Given the description of an element on the screen output the (x, y) to click on. 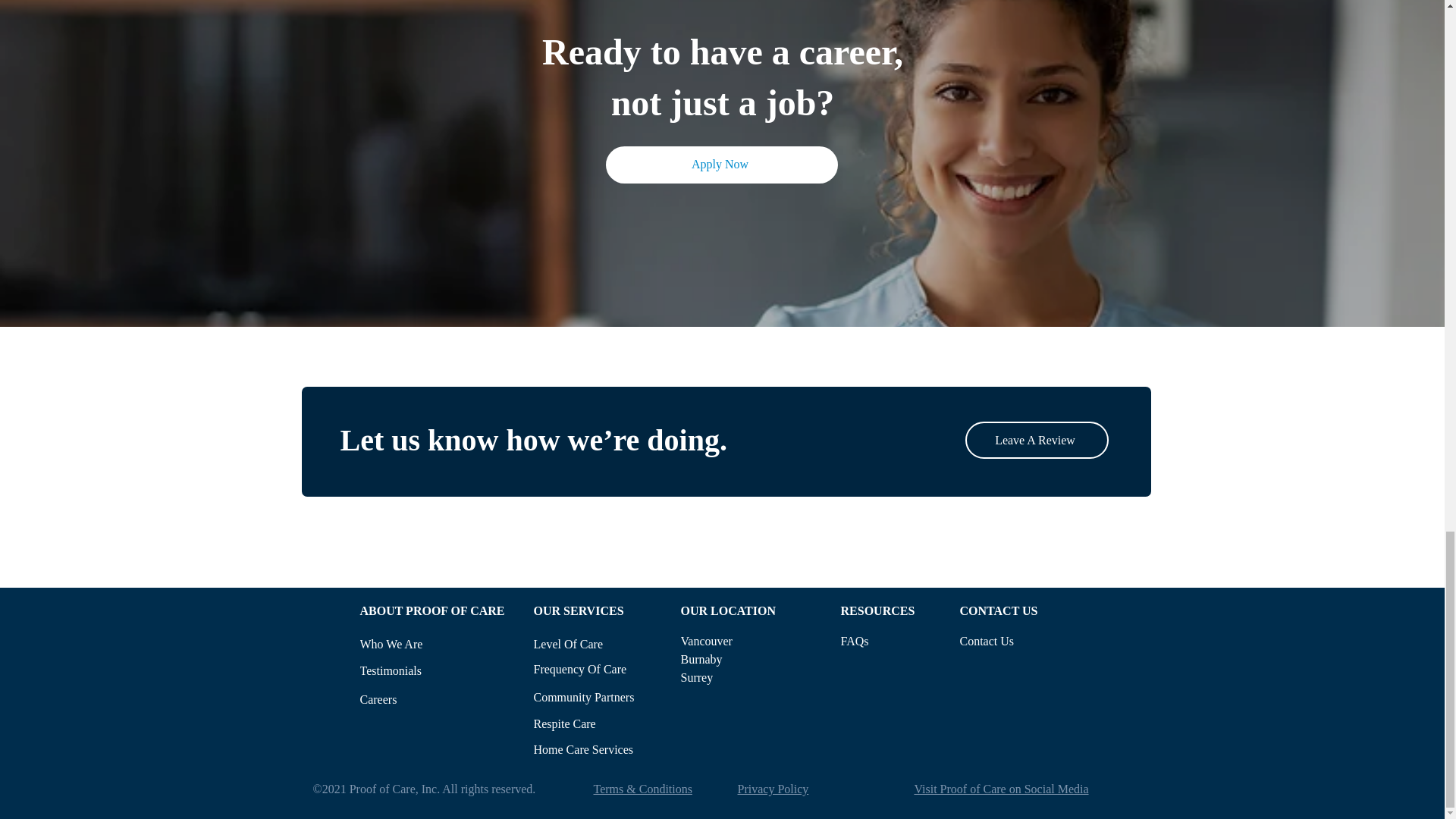
Level Of Care (576, 644)
Apply Now (721, 164)
Careers (435, 699)
Burnaby (741, 658)
Frequency Of Care (598, 668)
Home Care Services (601, 749)
FAQs (879, 640)
Surrey (741, 677)
Testimonials (413, 670)
Vancouver (741, 640)
Who We Are (404, 644)
Respite Care (601, 723)
Leave A Review (1035, 439)
Community Partners (601, 697)
